Given the description of an element on the screen output the (x, y) to click on. 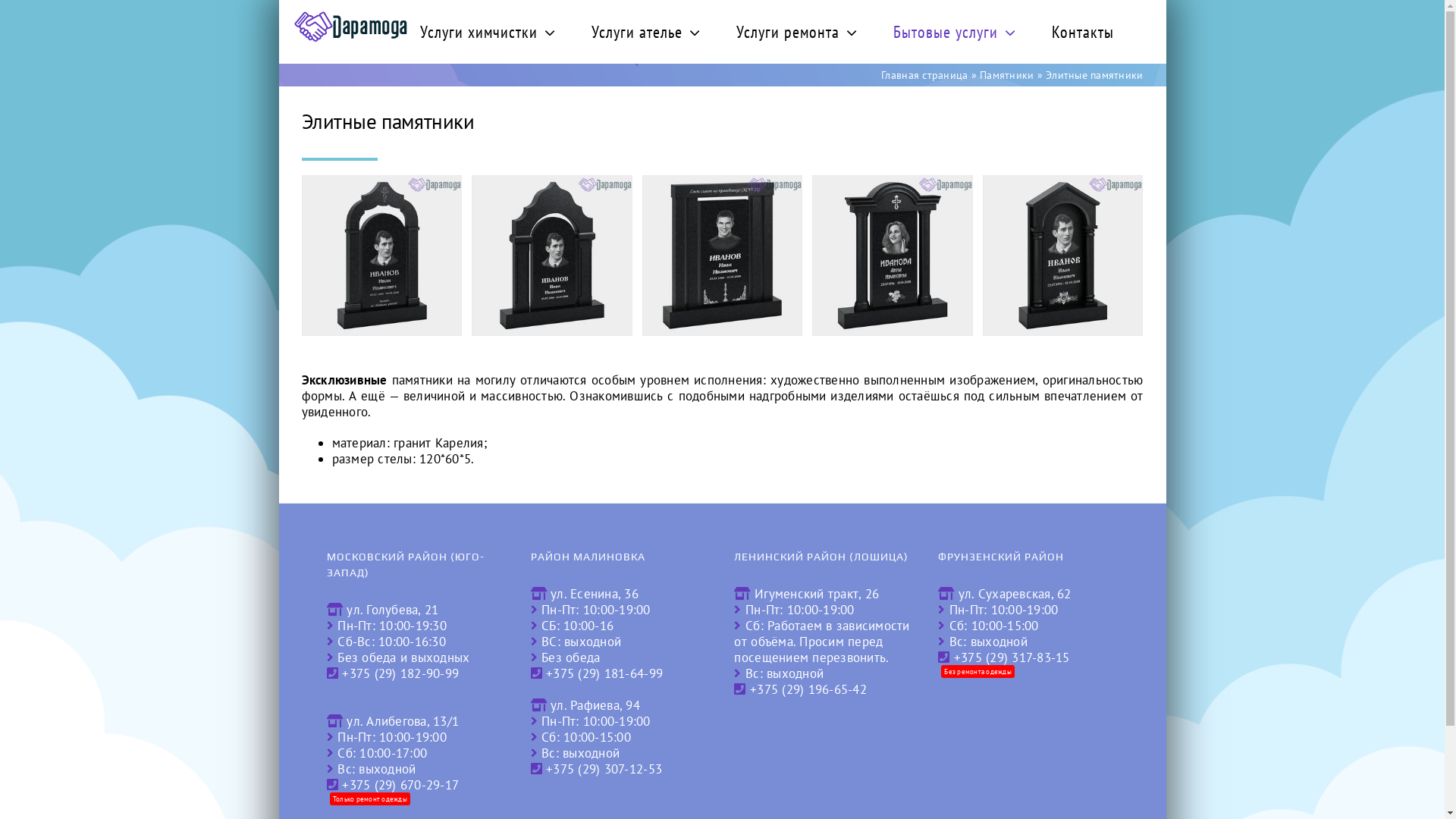
+375 (29) 196-65-42 Element type: text (807, 688)
+375 (29) 181-64-99 Element type: text (604, 673)
+375 (29) 670-29-17 Element type: text (400, 784)
+375 (29) 182-90-99 Element type: text (400, 673)
+375 (29) 317-83-15 Element type: text (1011, 657)
+375 (29) 307-12-53 Element type: text (604, 768)
